Given the description of an element on the screen output the (x, y) to click on. 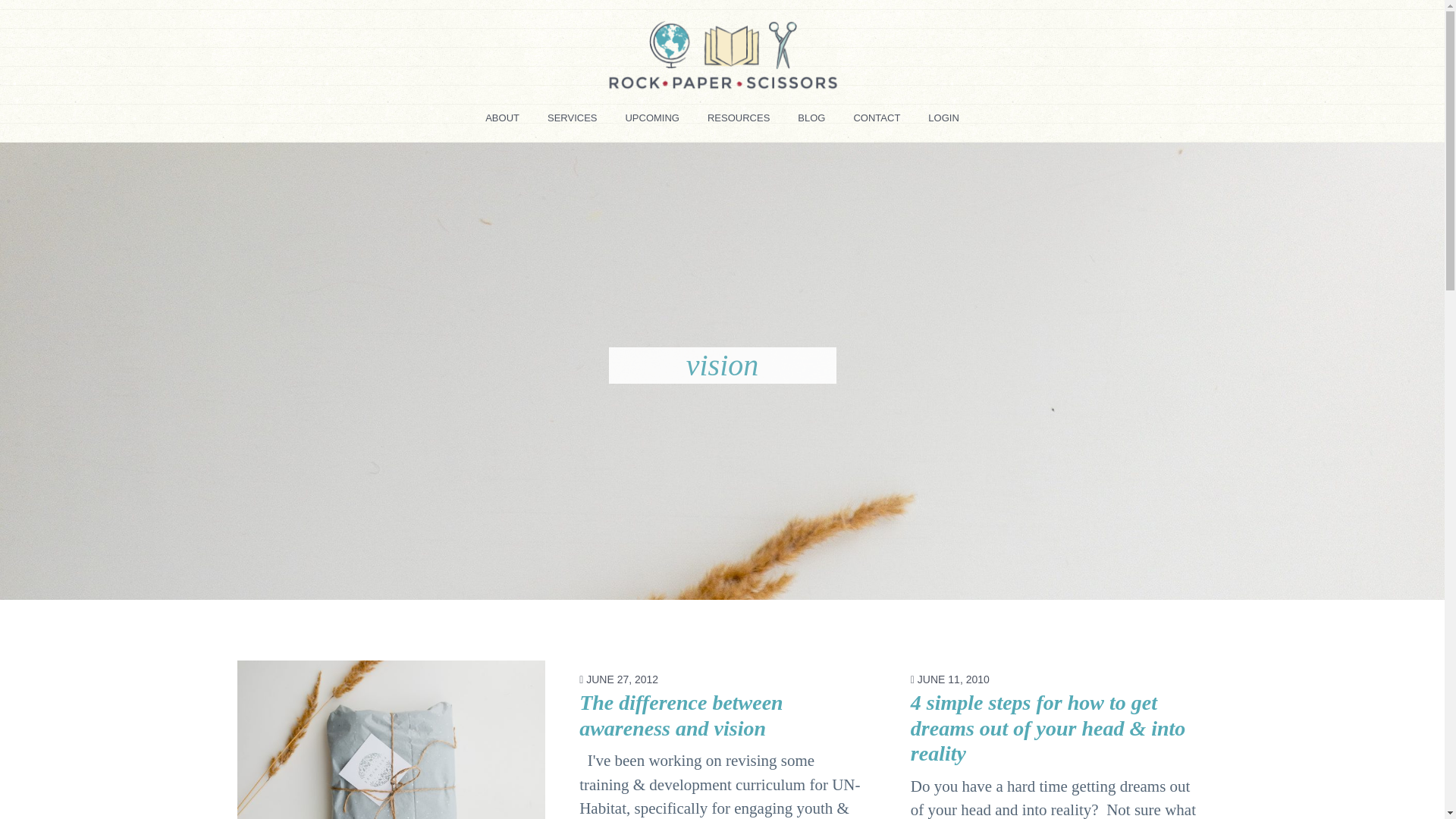
ABOUT (502, 122)
UPCOMING (651, 122)
LOGIN (943, 122)
The difference between awareness and vision (681, 715)
CONTACT (876, 122)
ROCK PAPER SCISSORS (310, 109)
BLOG (812, 122)
RESOURCES (739, 122)
SERVICES (572, 122)
